Given the description of an element on the screen output the (x, y) to click on. 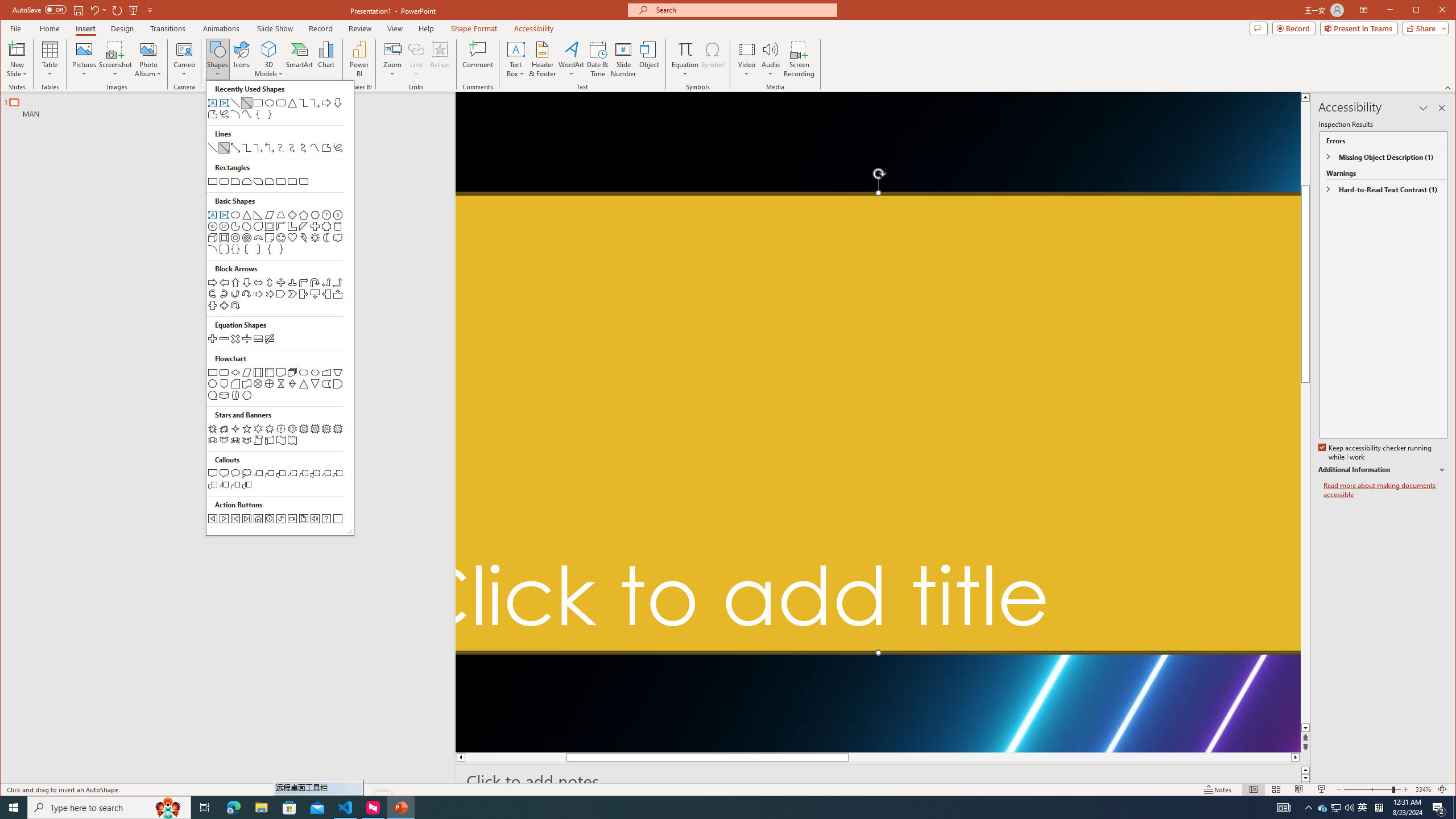
Link (416, 48)
Class: MsoCommandBar (728, 789)
Maximize (1432, 11)
Cameo (183, 48)
Draw Horizontal Text Box (515, 48)
Line up (1305, 96)
Power BI (359, 59)
